Given the description of an element on the screen output the (x, y) to click on. 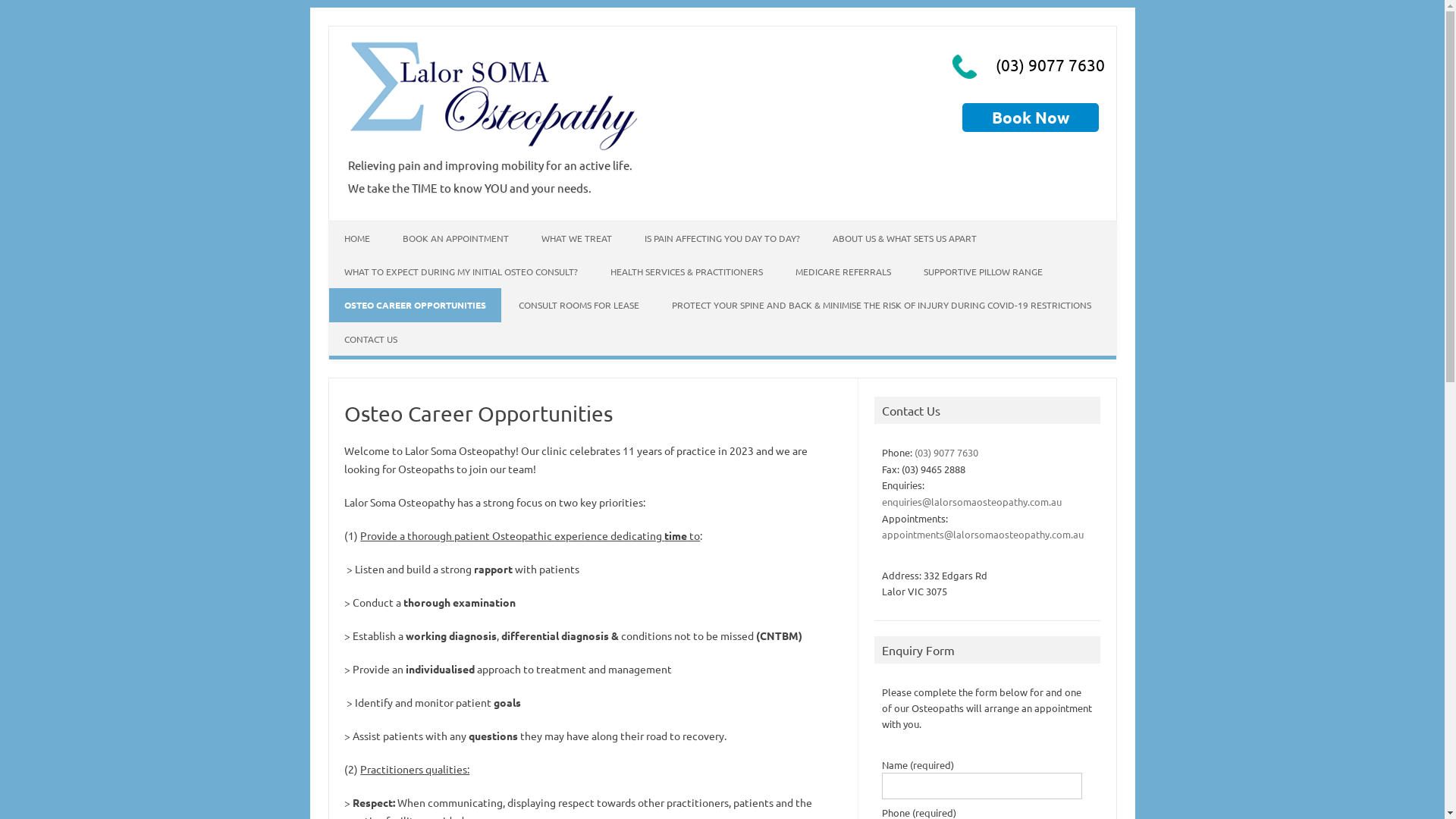
BOOK AN APPOINTMENT Element type: text (454, 237)
HOME Element type: text (357, 237)
OSTEO CAREER OPPORTUNITIES Element type: text (415, 304)
(03) 9077 7630 Element type: text (946, 451)
Lalor Soma Osteopathy Element type: hover (493, 148)
CONTACT US Element type: text (370, 338)
Skip to content Element type: text (365, 225)
(03) 9077 7630 Element type: text (1049, 64)
enquiries@lalorsomaosteopathy.com.au Element type: text (971, 501)
ABOUT US & WHAT SETS US APART Element type: text (904, 237)
WHAT WE TREAT Element type: text (576, 237)
IS PAIN AFFECTING YOU DAY TO DAY? Element type: text (722, 237)
Book Now Element type: text (1029, 116)
SUPPORTIVE PILLOW RANGE Element type: text (982, 271)
MEDICARE REFERRALS Element type: text (842, 271)
HEALTH SERVICES & PRACTITIONERS Element type: text (685, 271)
appointments@lalorsomaosteopathy.com.au Element type: text (982, 533)
CONSULT ROOMS FOR LEASE Element type: text (578, 304)
WHAT TO EXPECT DURING MY INITIAL OSTEO CONSULT? Element type: text (461, 271)
